Given the description of an element on the screen output the (x, y) to click on. 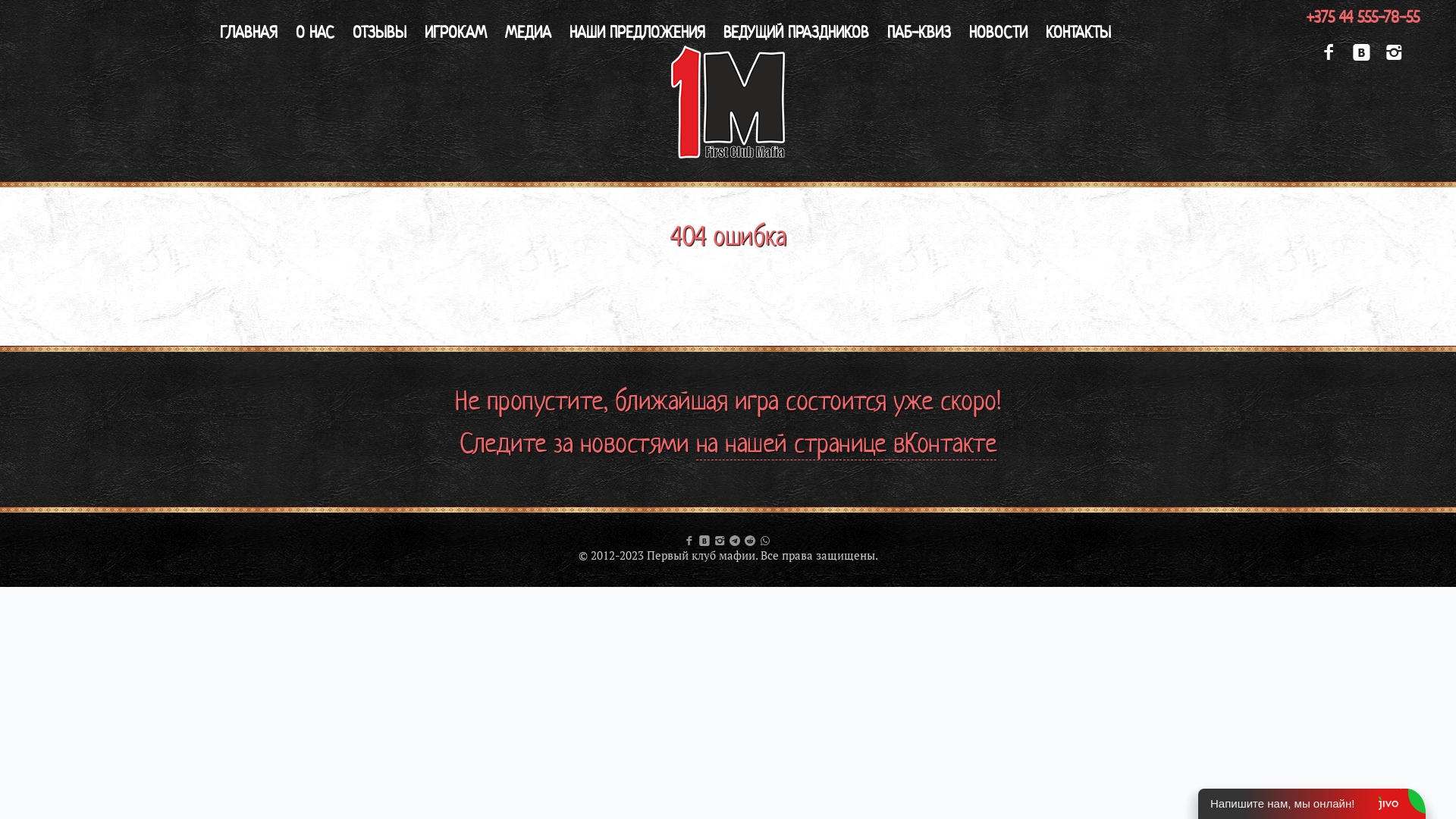
+375 44 555-78-55 Element type: text (1362, 16)
